Given the description of an element on the screen output the (x, y) to click on. 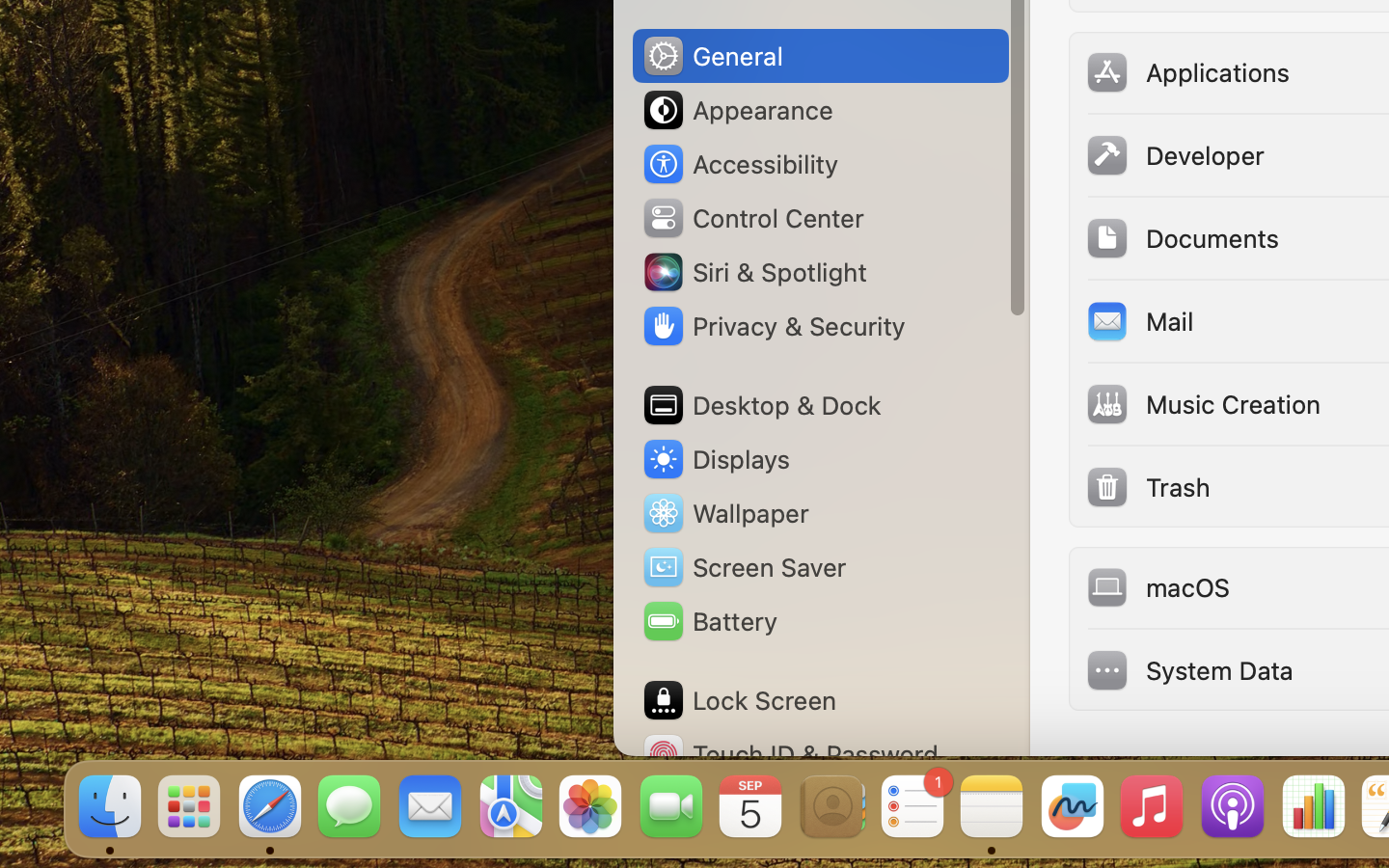
Siri & Spotlight Element type: AXStaticText (753, 271)
Documents Element type: AXStaticText (1181, 237)
macOS Element type: AXStaticText (1157, 586)
Accessibility Element type: AXStaticText (739, 163)
Control Center Element type: AXStaticText (752, 217)
